Given the description of an element on the screen output the (x, y) to click on. 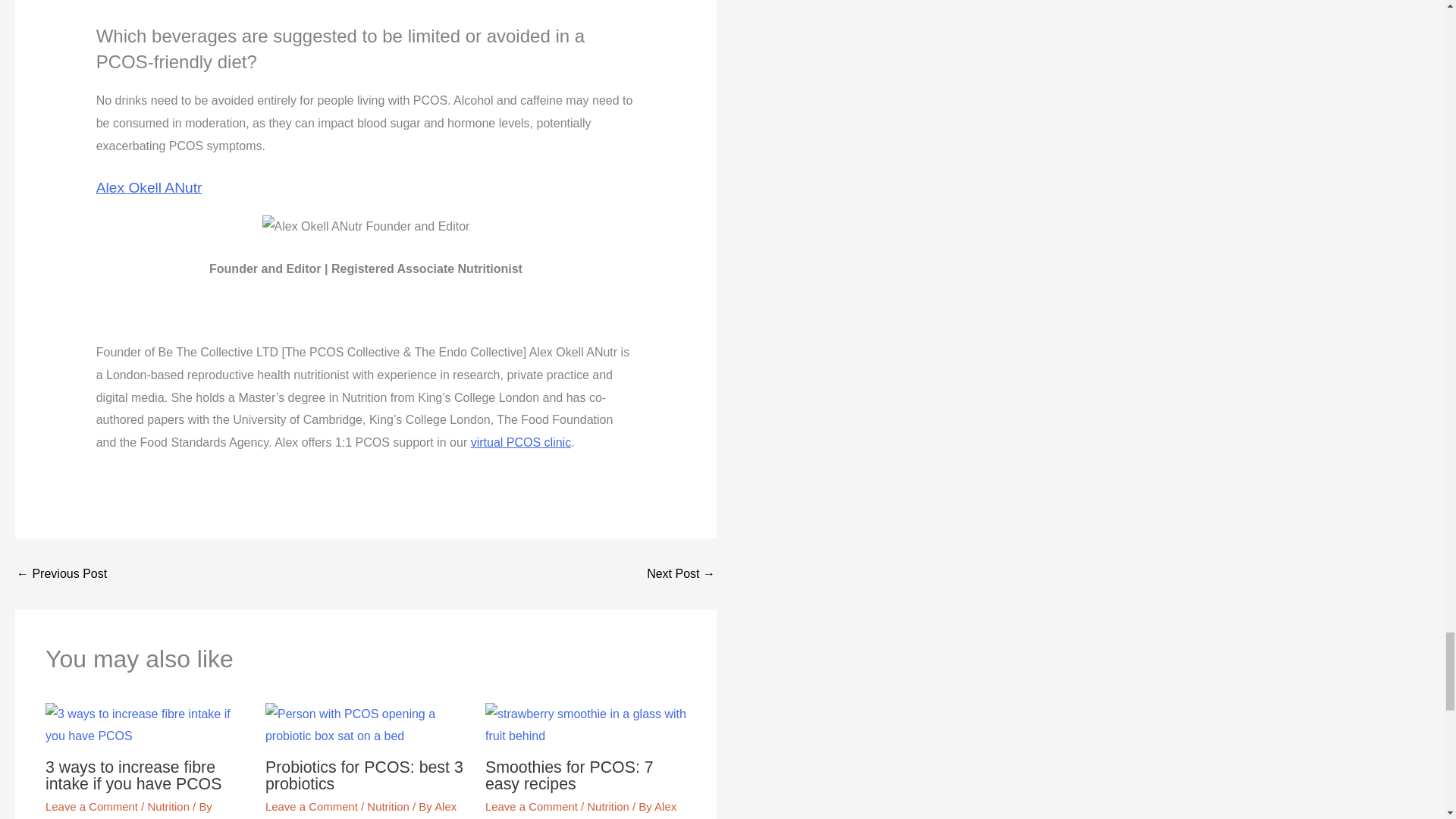
View all posts by Alex Okell ANutr (360, 809)
Ayurveda for PCOS: Is Natural Management Better? (680, 573)
View all posts by Alex Okell ANutr (580, 809)
